Given the description of an element on the screen output the (x, y) to click on. 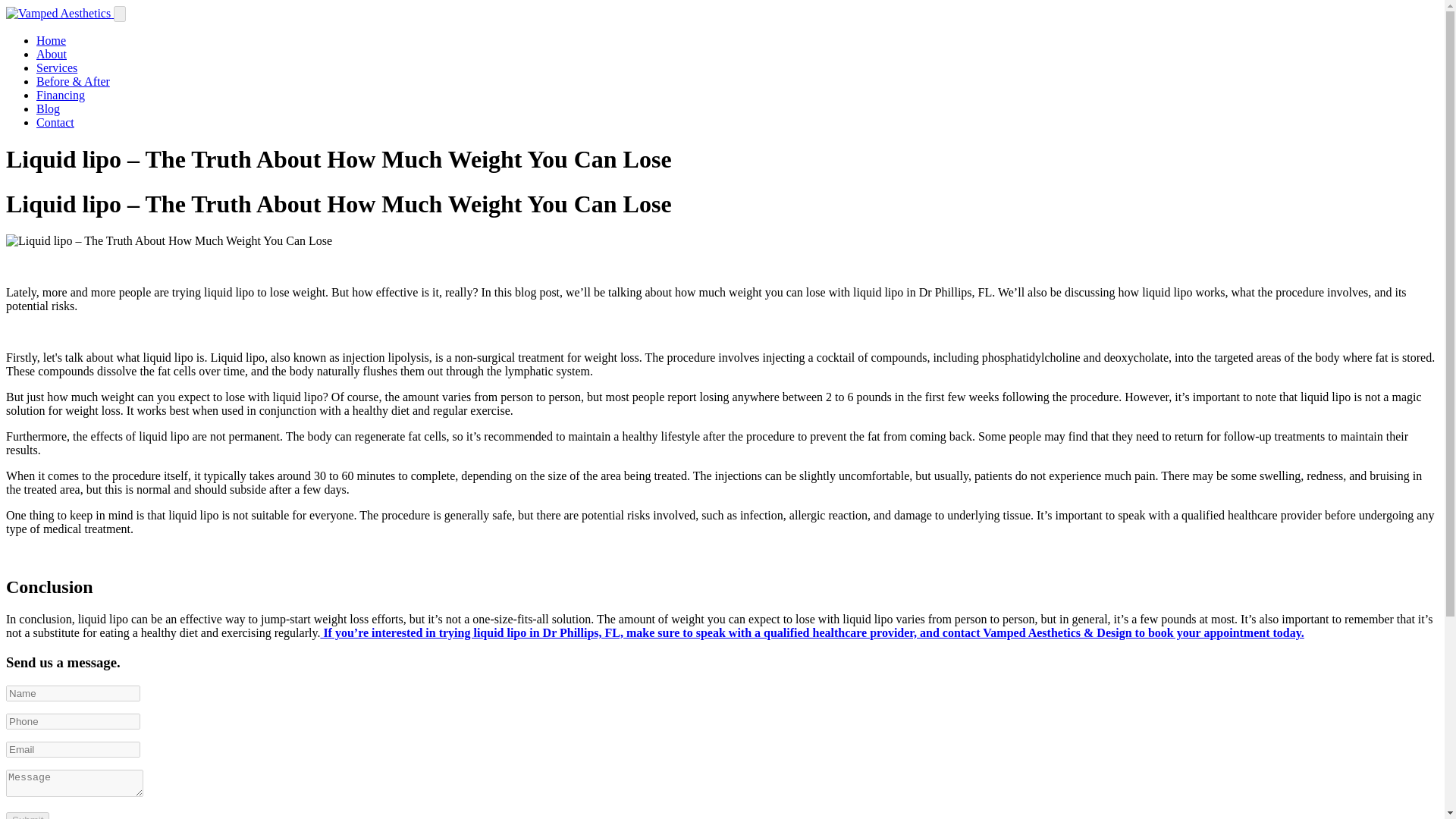
Blog (47, 108)
Submit (27, 815)
About (51, 53)
Submit (27, 815)
Blog (47, 108)
Financing (60, 94)
Home (50, 40)
Home (50, 40)
Services (56, 67)
Contact (55, 122)
Contact (55, 122)
About (51, 53)
Services (56, 67)
Financing (60, 94)
